Given the description of an element on the screen output the (x, y) to click on. 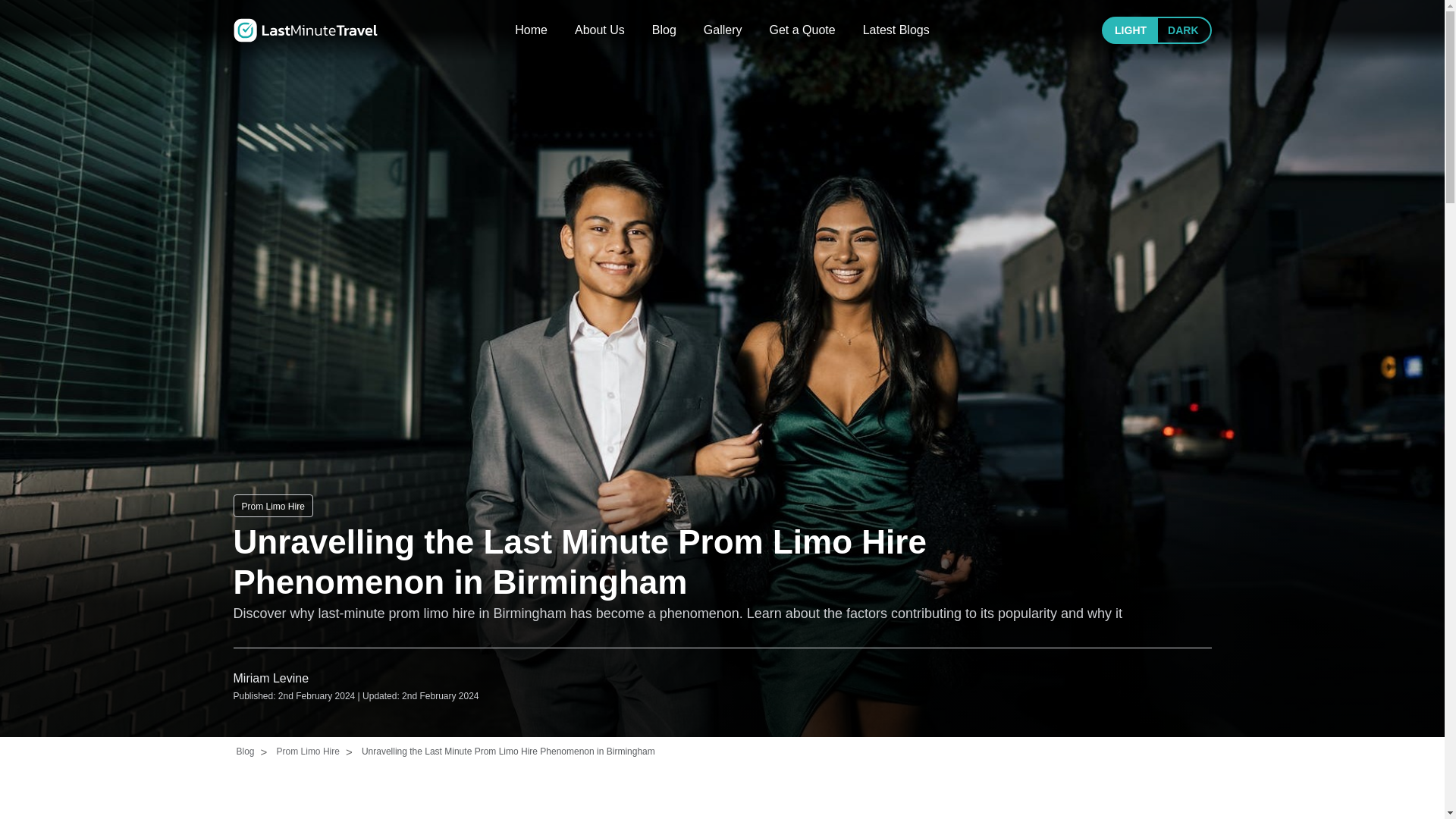
Last Minute Travel (304, 29)
Get a Quote (801, 30)
Latest Blogs (896, 30)
Get a Quote (801, 30)
Latest Blogs (896, 30)
